Given the description of an element on the screen output the (x, y) to click on. 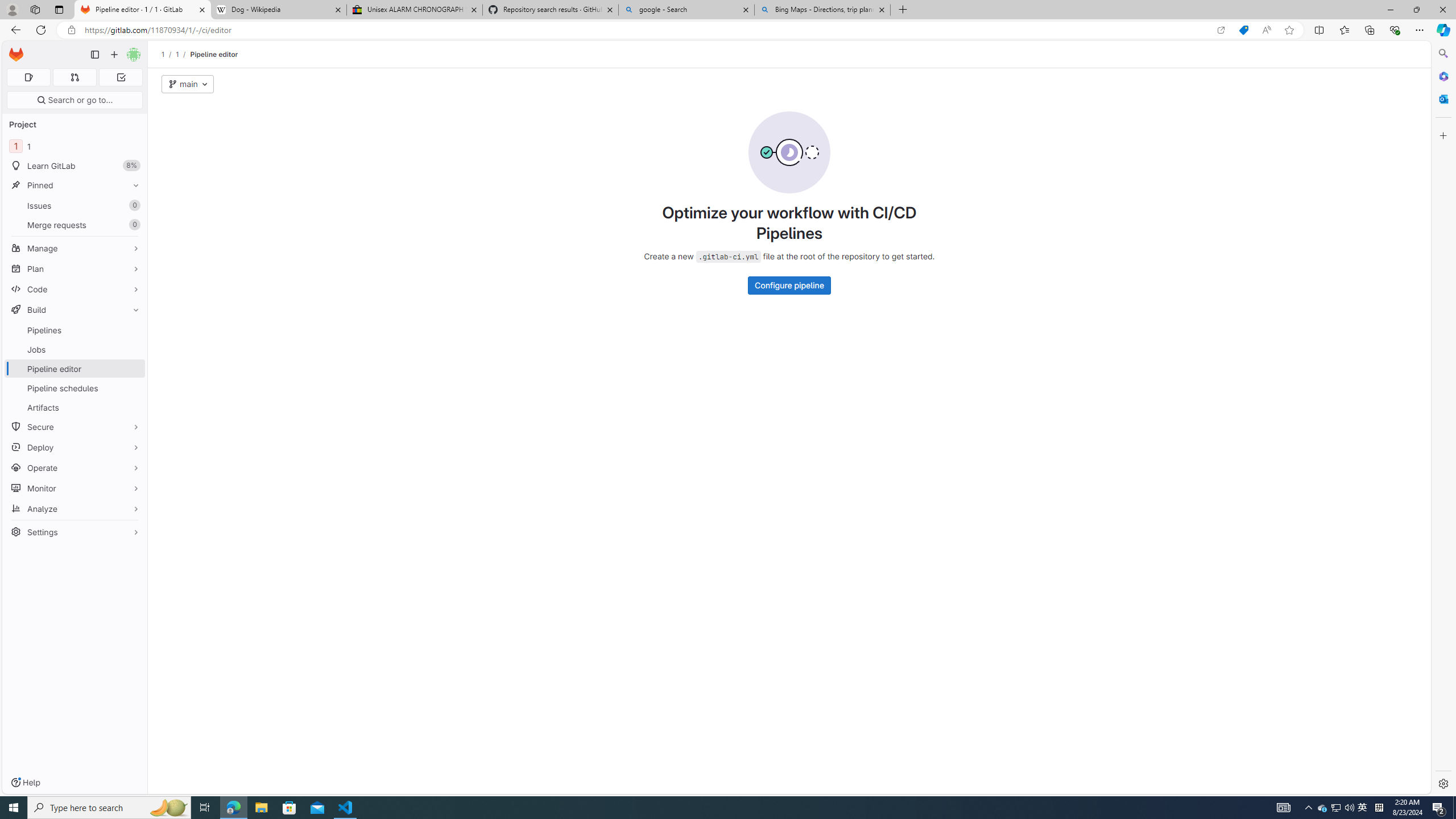
Issues0 (74, 205)
Pipelines (74, 330)
Pin Pipelines (132, 329)
Operate (74, 467)
Artifacts (74, 407)
Merge requests 0 (74, 224)
Analyze (74, 508)
